Given the description of an element on the screen output the (x, y) to click on. 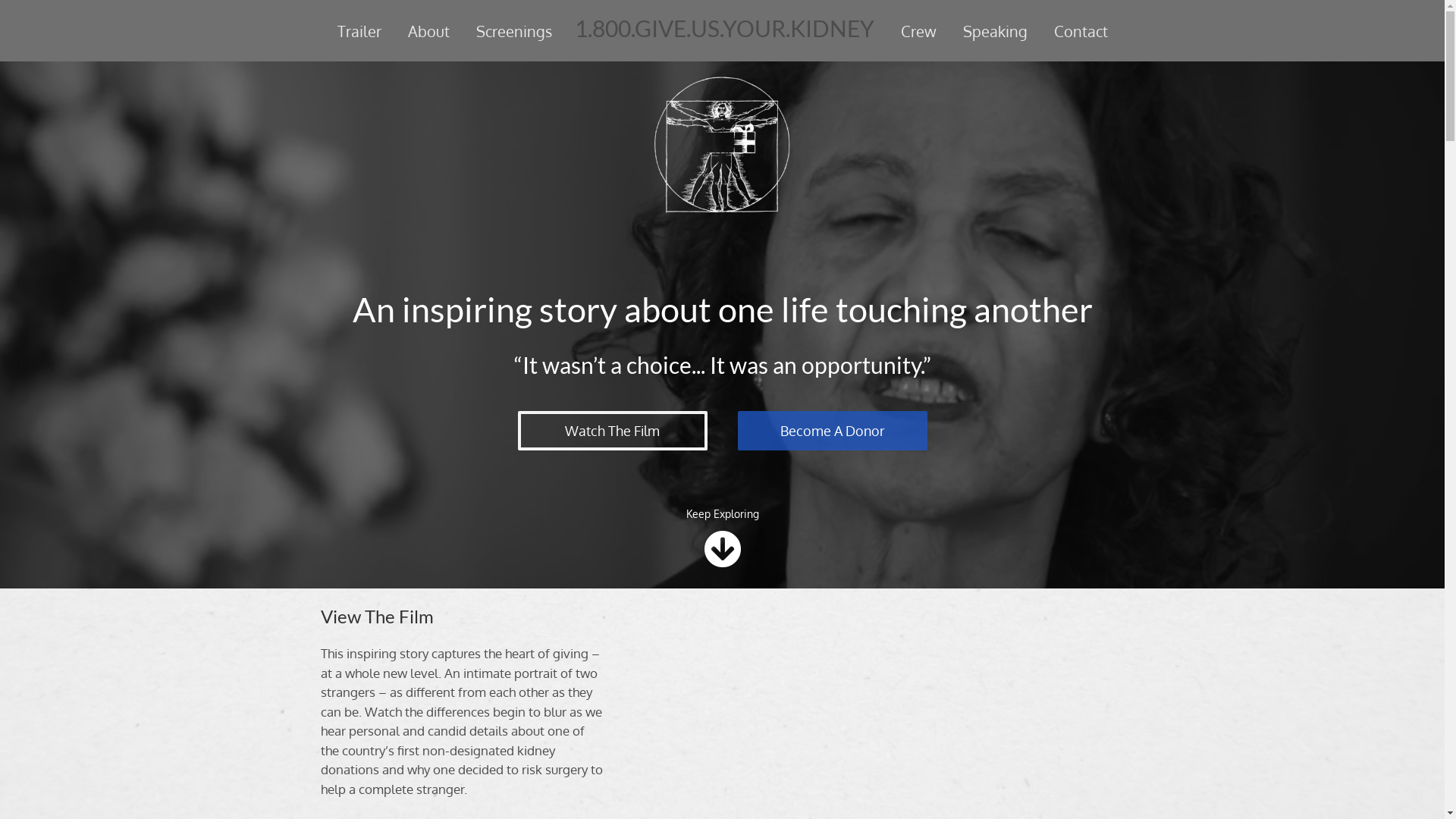
Watch The Film Element type: text (611, 430)
Screenings Element type: text (513, 31)
About Element type: text (427, 31)
Speaking Element type: text (994, 31)
Become A Donor Element type: text (831, 430)
Crew Element type: text (917, 31)
1.800.GIVE.US.YOUR.KIDNEY Element type: text (724, 27)
Contact Element type: text (1079, 31)
Keep Exploring Element type: text (721, 512)
Harold Man Element type: hover (721, 144)
Trailer Element type: text (359, 31)
